Given the description of an element on the screen output the (x, y) to click on. 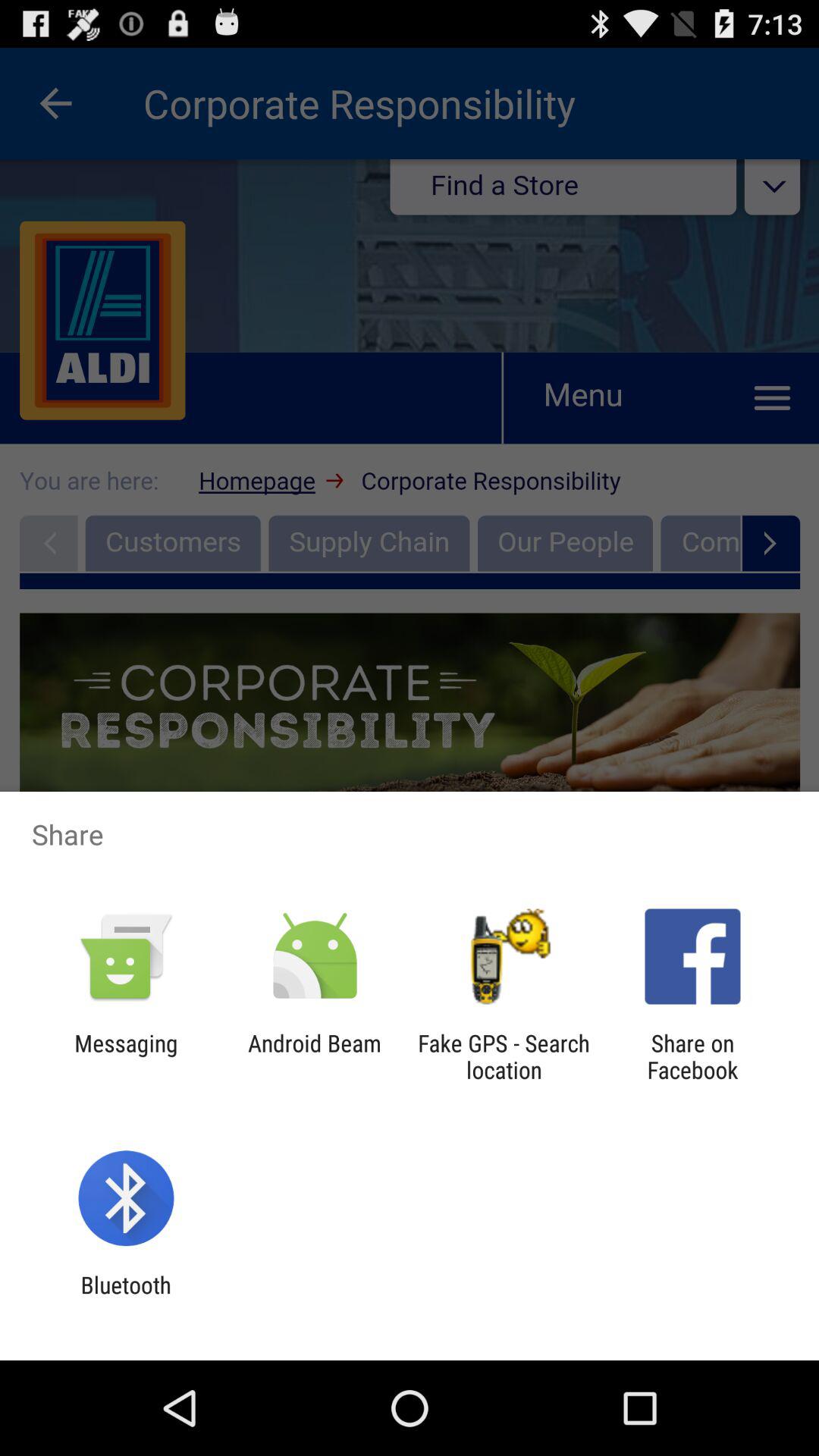
open icon next to the fake gps search app (692, 1056)
